Given the description of an element on the screen output the (x, y) to click on. 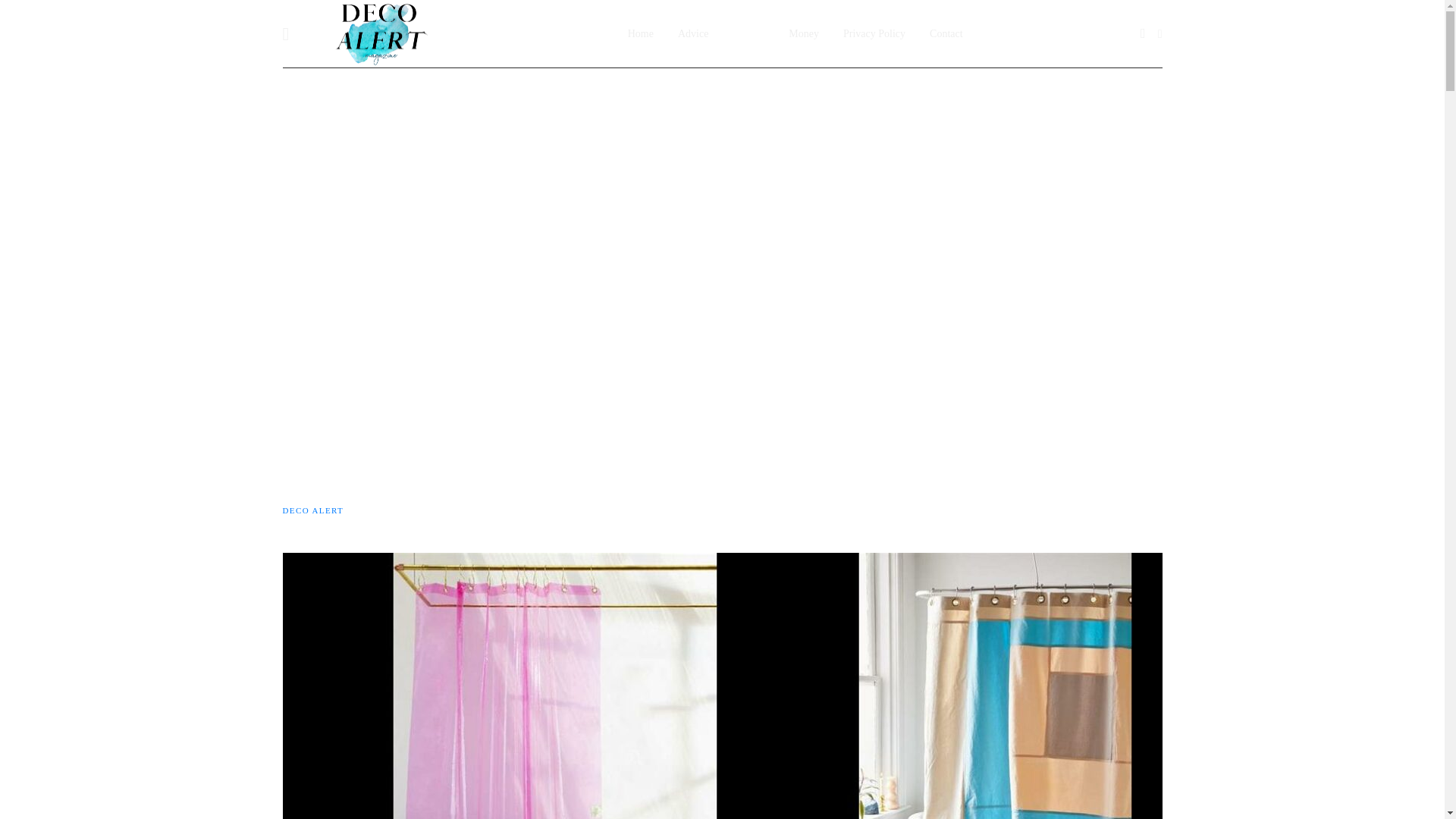
INTERIOR (305, 338)
View all posts by Deco Alert (312, 509)
Advice (692, 33)
DECO ALERT (312, 509)
Money (803, 33)
Privacy Policy (874, 33)
Contact (946, 33)
Interior (748, 33)
Home (640, 33)
